Given the description of an element on the screen output the (x, y) to click on. 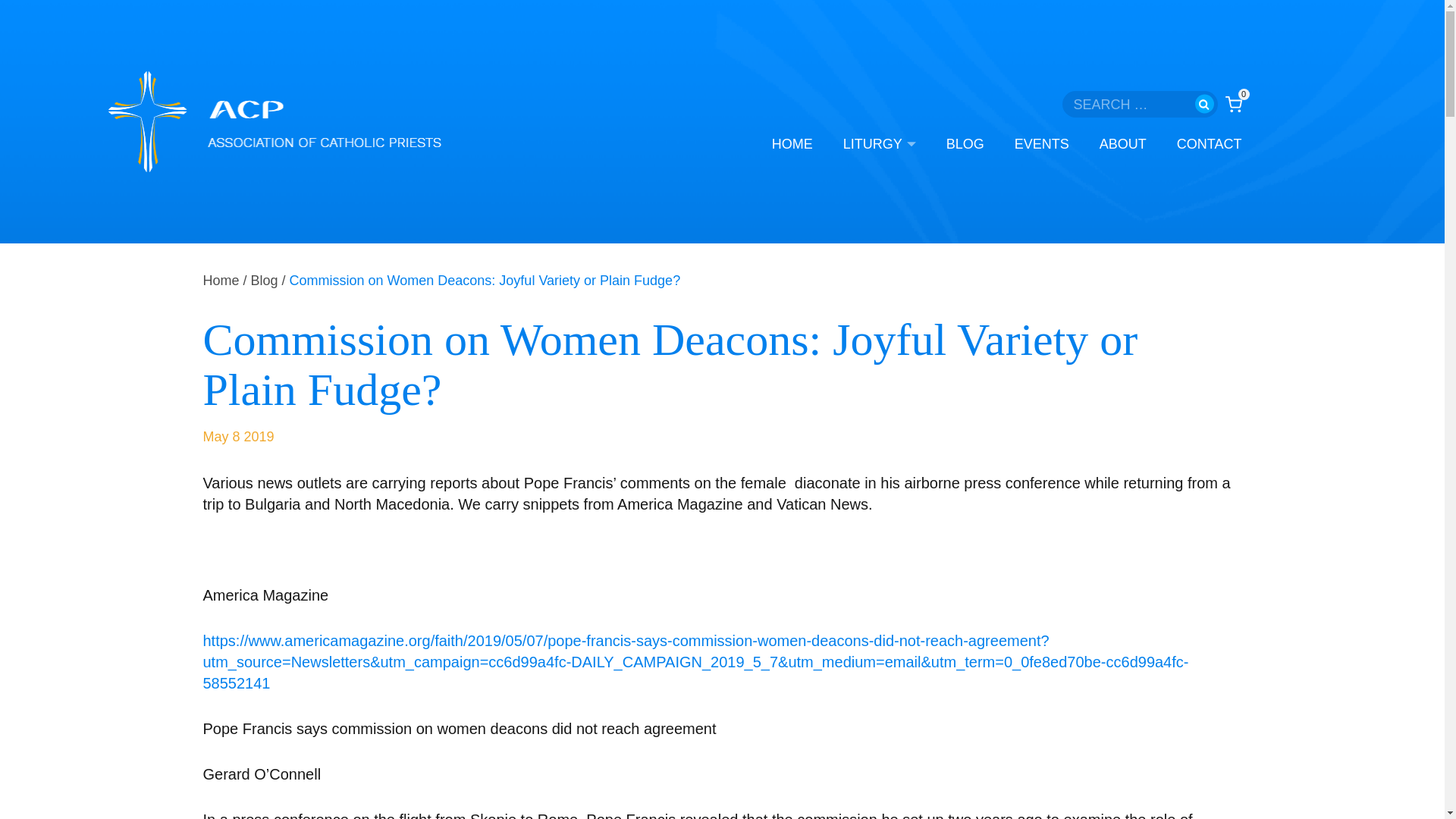
HOME (791, 144)
CONTACT (1208, 144)
Blog (264, 280)
EVENTS (1041, 144)
BLOG (965, 144)
ABOUT (1123, 144)
LITURGY (879, 144)
0 (1233, 103)
Home (221, 280)
